Given the description of an element on the screen output the (x, y) to click on. 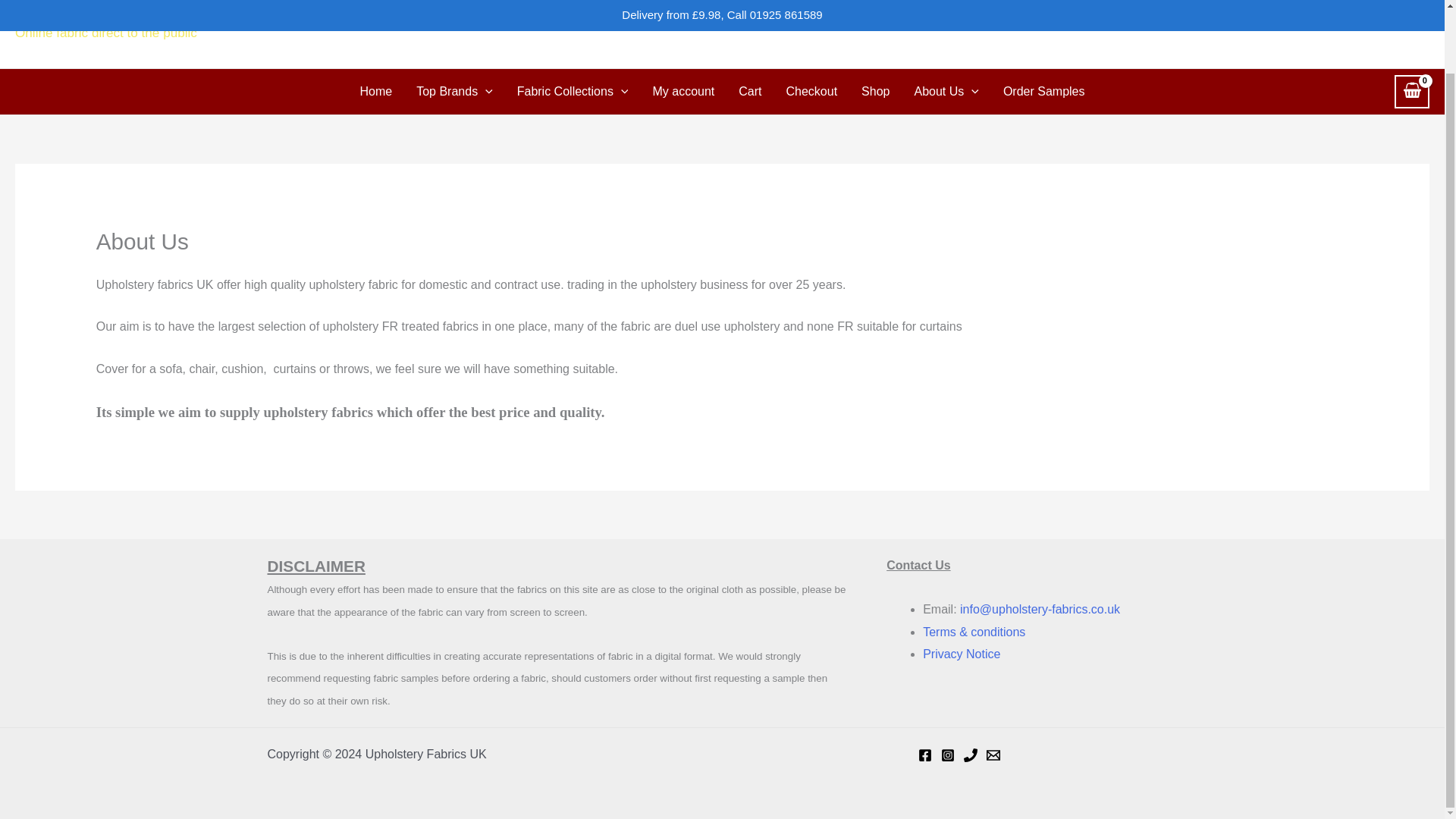
Top Brands (454, 91)
Upholstery Fabrics UK (166, 10)
Fabric Collections (572, 91)
Home (375, 91)
